Given the description of an element on the screen output the (x, y) to click on. 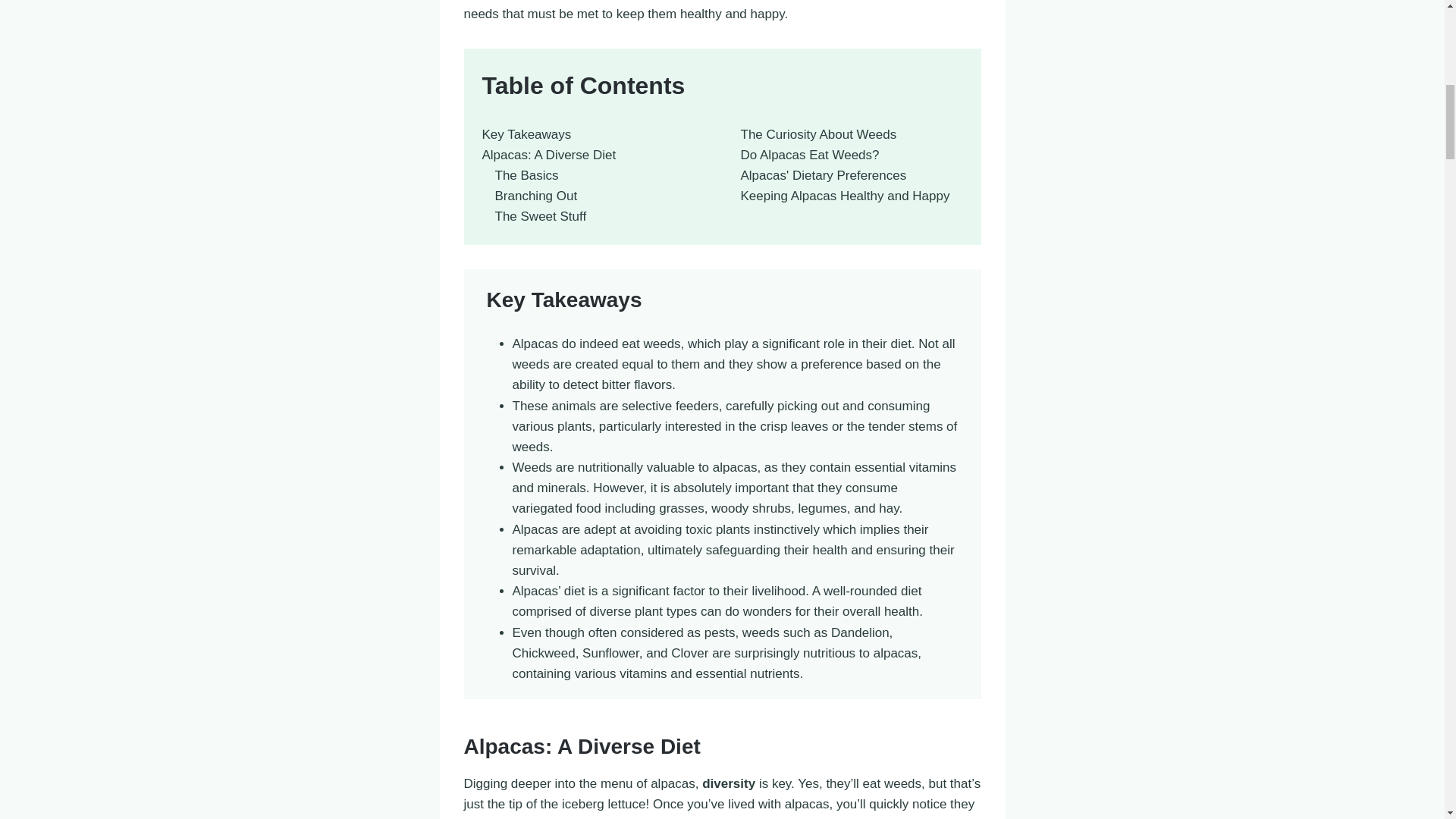
Do Alpacas Eat Weeds? (809, 155)
Keeping Alpacas Healthy and Happy (844, 196)
Alpacas: A Diverse Diet (548, 155)
Alpacas' Dietary Preferences (822, 175)
The Sweet Stuff (540, 216)
The Curiosity About Weeds (817, 134)
The Basics (526, 175)
Key Takeaways (526, 134)
Branching Out (535, 196)
